Given the description of an element on the screen output the (x, y) to click on. 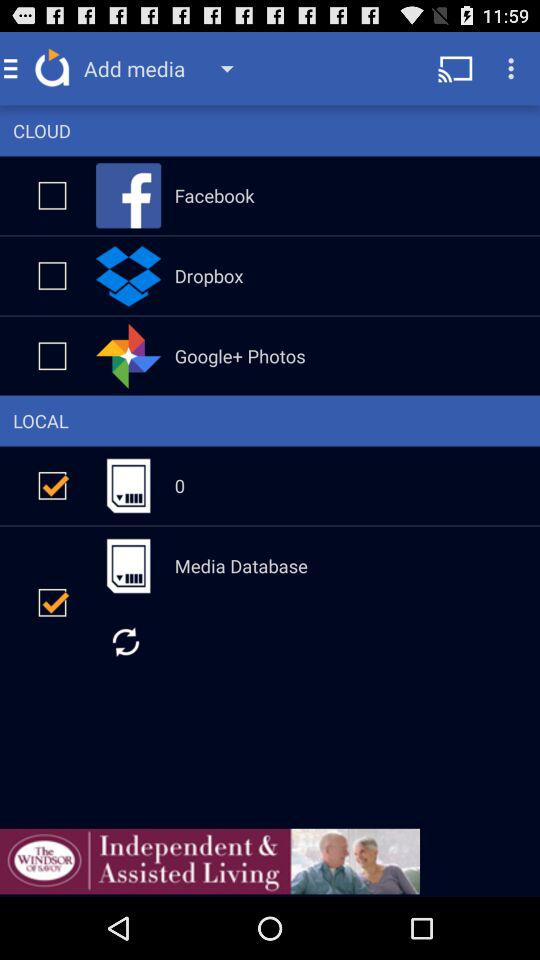
redirect to advertisement (210, 861)
